Given the description of an element on the screen output the (x, y) to click on. 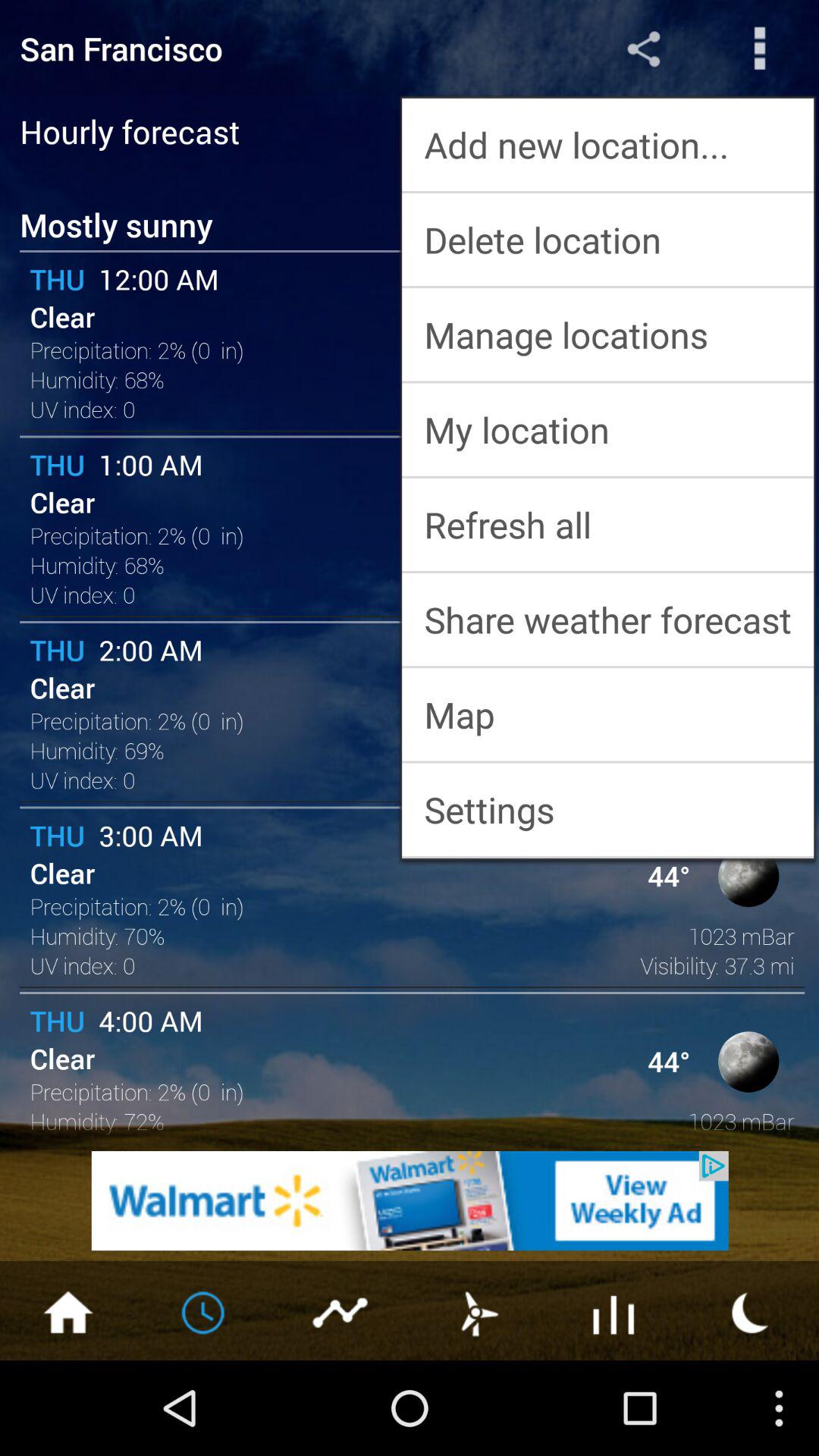
jump until refresh all icon (607, 524)
